Given the description of an element on the screen output the (x, y) to click on. 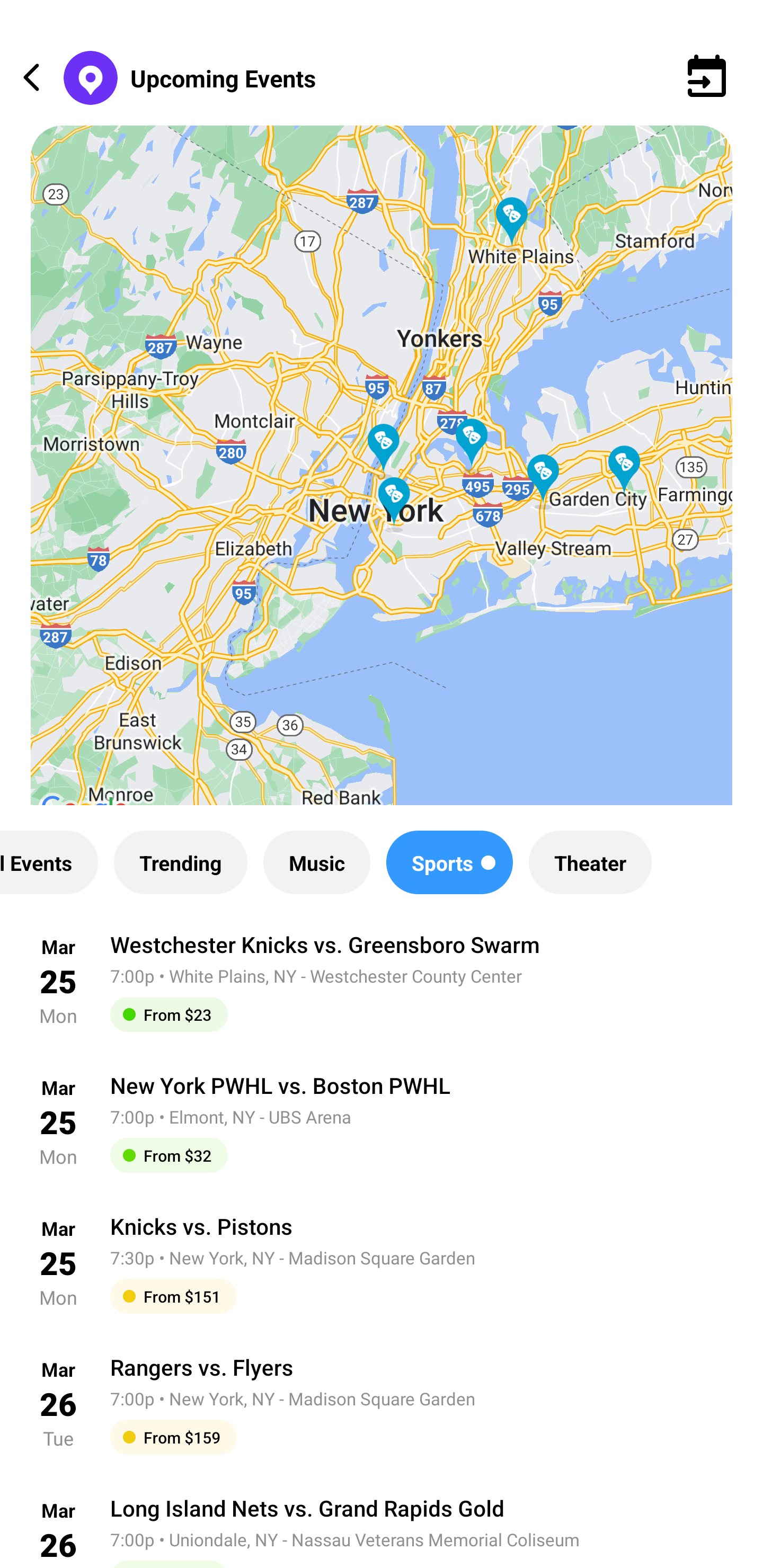
Trending (180, 862)
Music (316, 862)
Sports (449, 862)
Theater (589, 862)
